Given the description of an element on the screen output the (x, y) to click on. 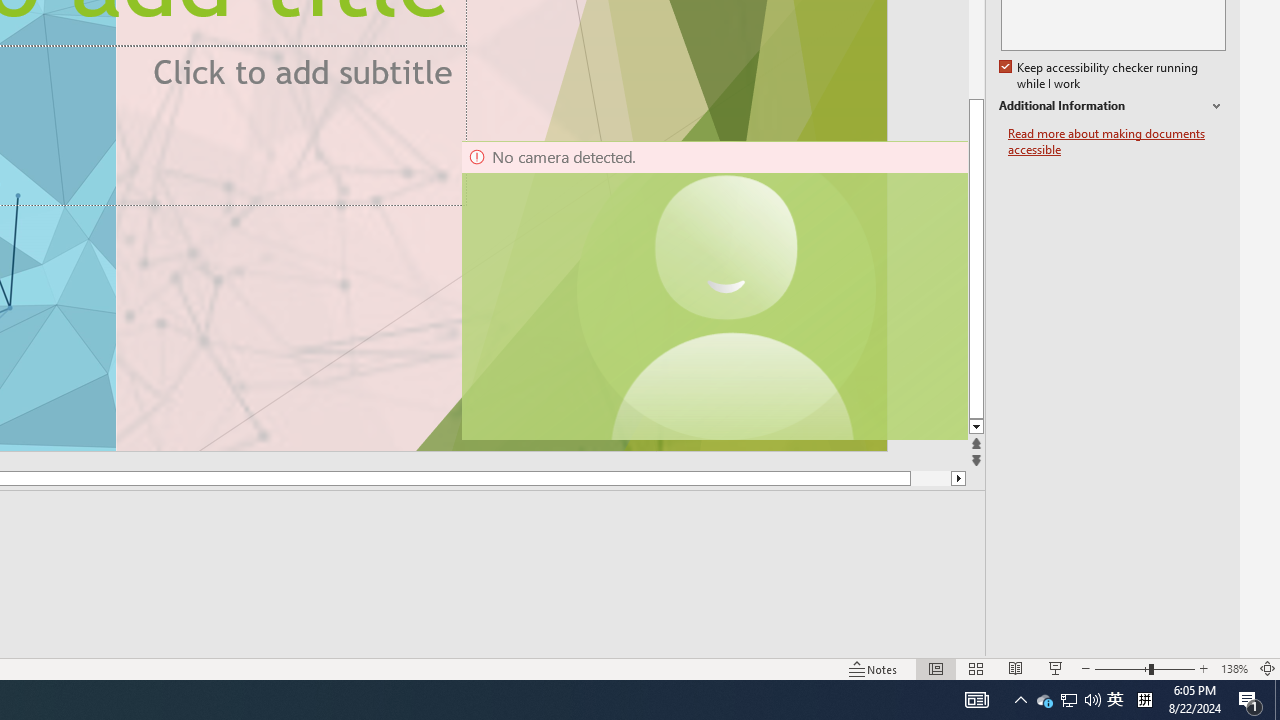
Zoom 138% (1234, 668)
Keep accessibility checker running while I work (1099, 76)
Zoom Out (1121, 668)
Read more about making documents accessible (1117, 142)
Zoom In (1204, 668)
Zoom to Fit  (1267, 668)
Notes  (874, 668)
Slide Show (1055, 668)
Camera 11, No camera detected. (727, 290)
Zoom (1144, 668)
Slide Sorter (975, 668)
Normal (936, 668)
Line down (976, 427)
Camera 14, No camera detected. (713, 290)
Additional Information (1112, 106)
